Given the description of an element on the screen output the (x, y) to click on. 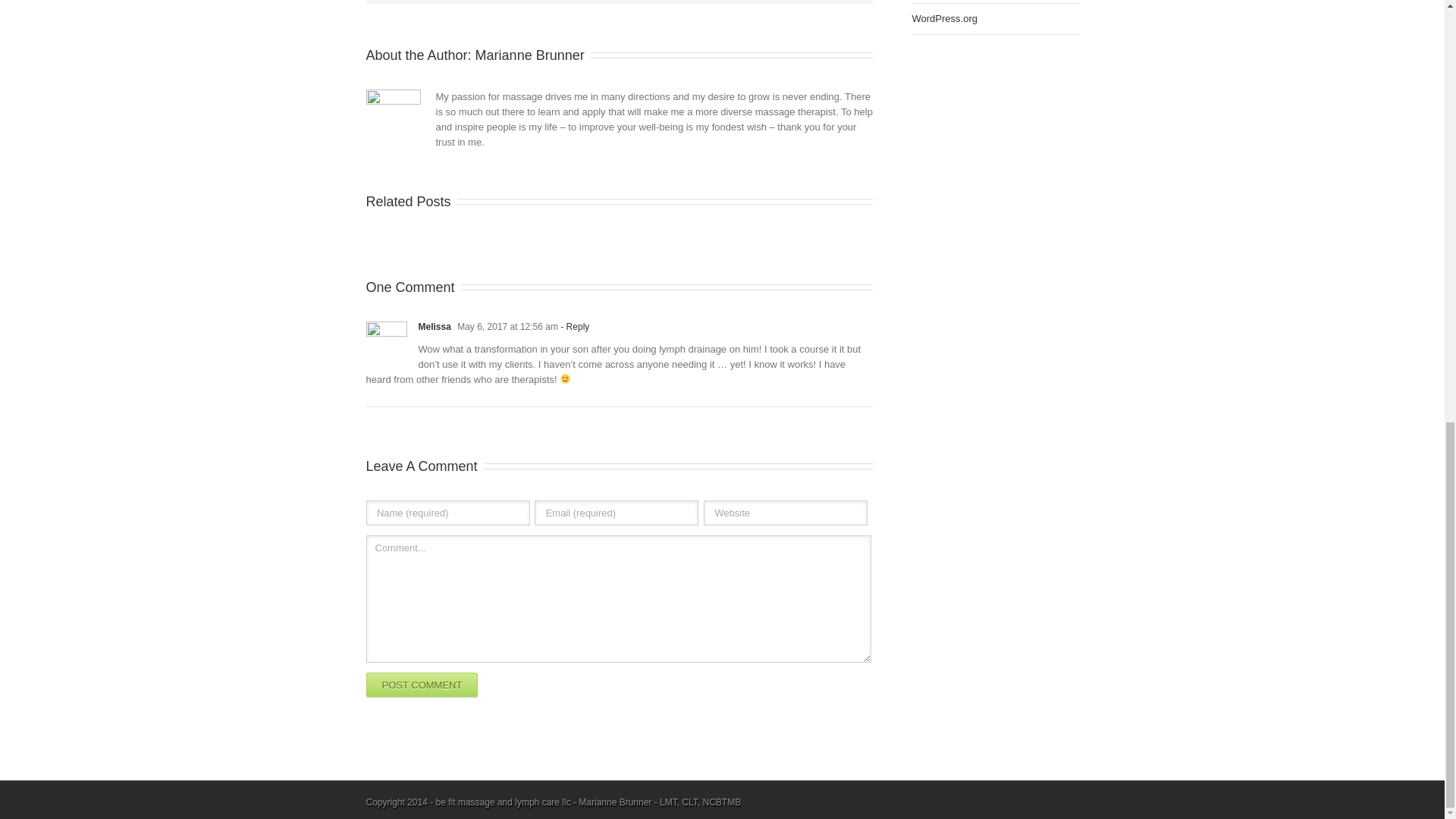
Post Comment (421, 684)
Posts by Marianne Brunner (530, 55)
